Given the description of an element on the screen output the (x, y) to click on. 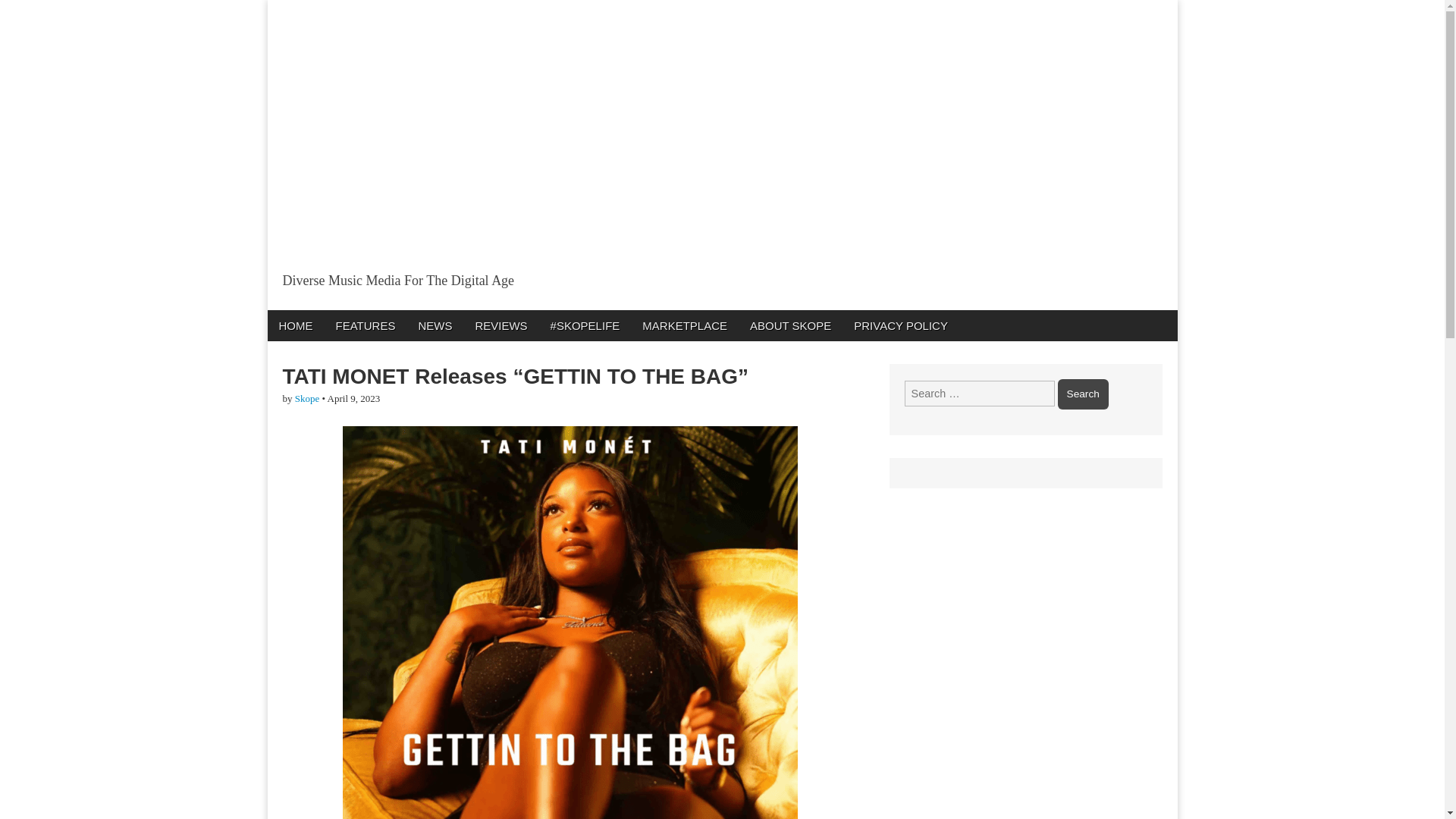
ABOUT SKOPE (790, 324)
YouTube video player (478, 140)
Skope Entertainment Inc (462, 314)
NEWS (434, 324)
FEATURES (365, 324)
Skope Entertainment Inc (462, 314)
HOME (294, 324)
Search (1083, 394)
REVIEWS (500, 324)
Posts by Skope (307, 398)
PRIVACY POLICY (901, 324)
Search (1083, 394)
Search (1083, 394)
